Given the description of an element on the screen output the (x, y) to click on. 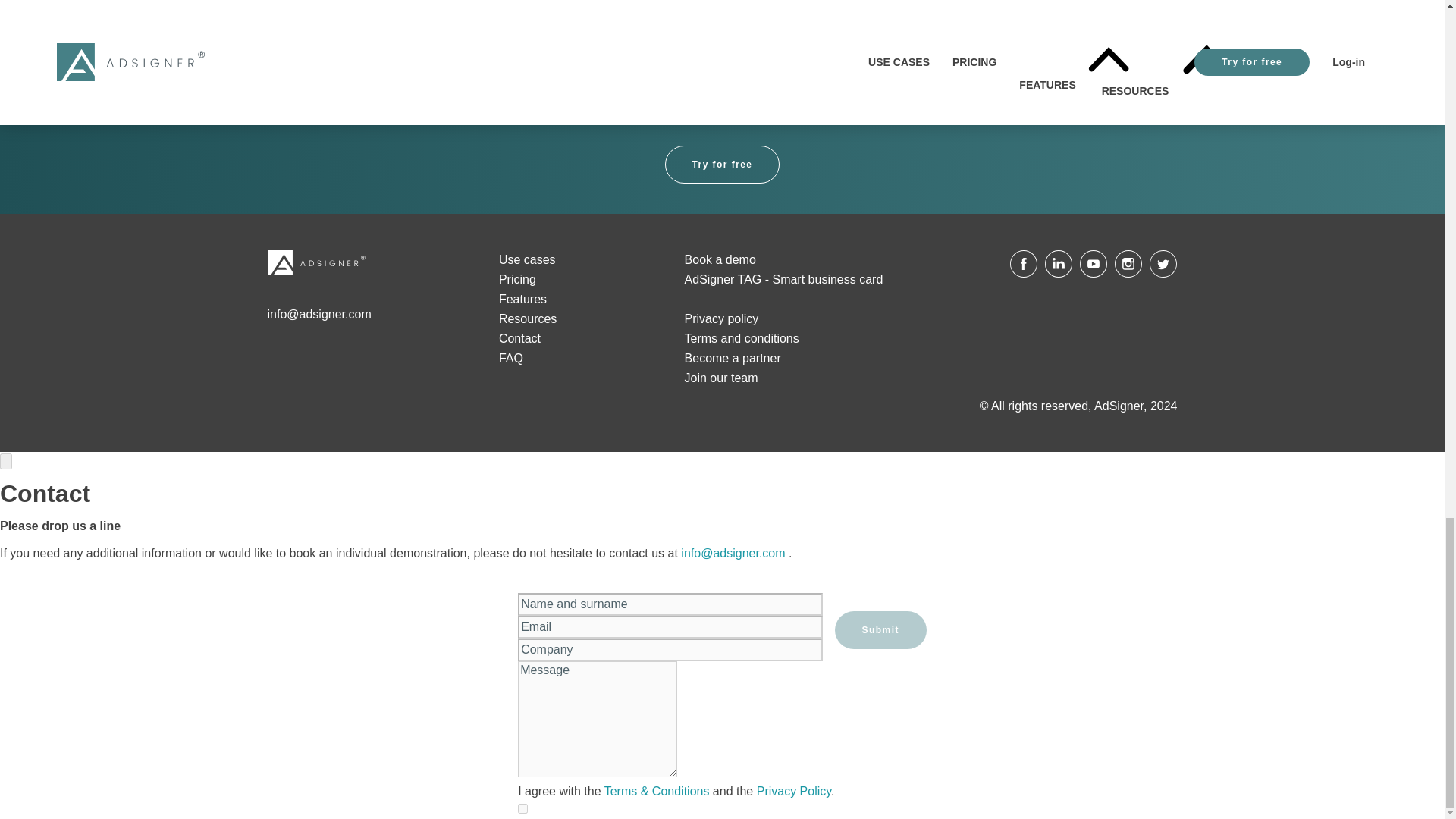
Resources (527, 318)
Use cases (527, 259)
Pricing (517, 278)
Features (523, 298)
Try for free (720, 164)
true (522, 808)
